Given the description of an element on the screen output the (x, y) to click on. 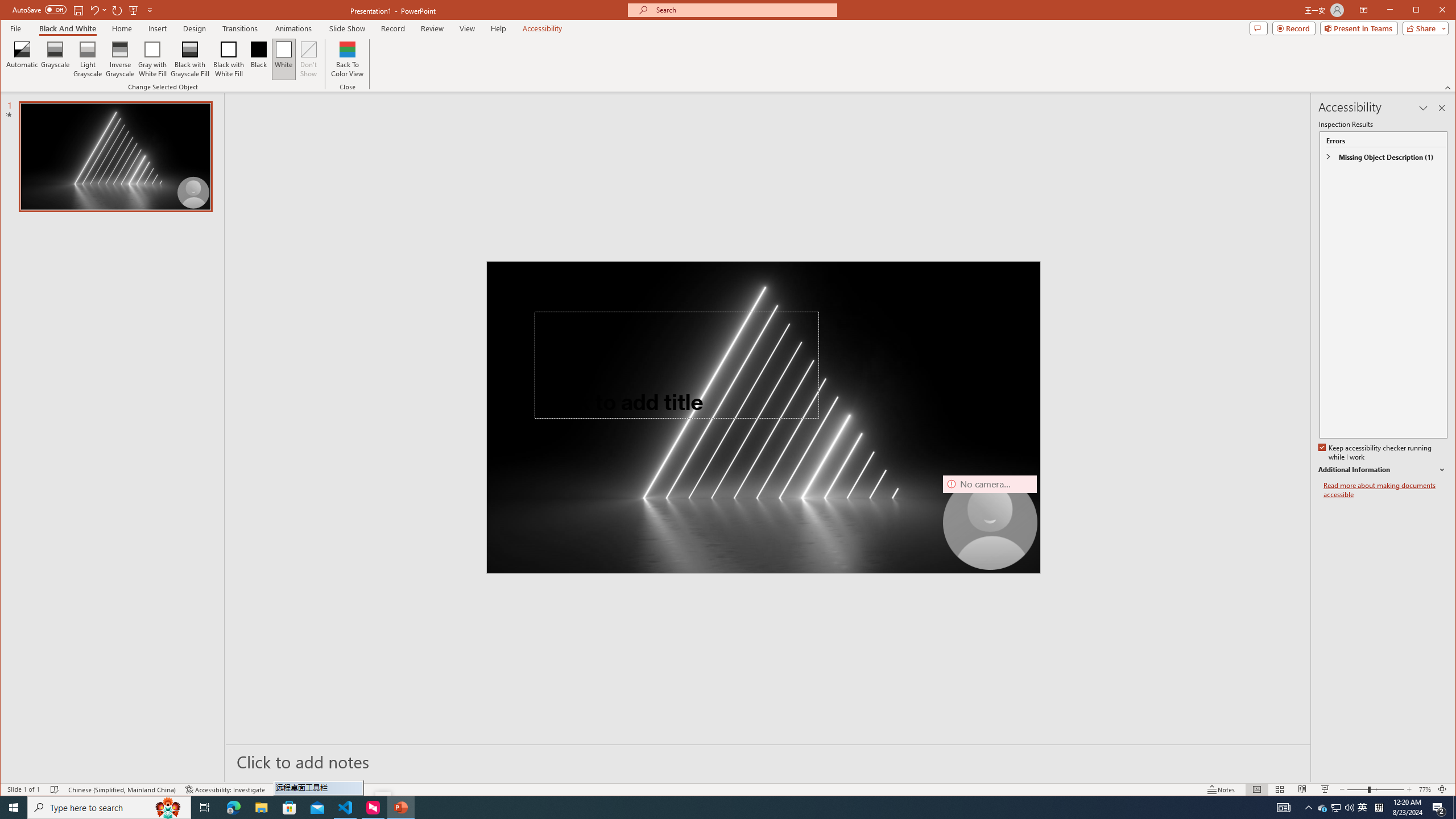
Black with Grayscale Fill (189, 59)
White (283, 59)
